Given the description of an element on the screen output the (x, y) to click on. 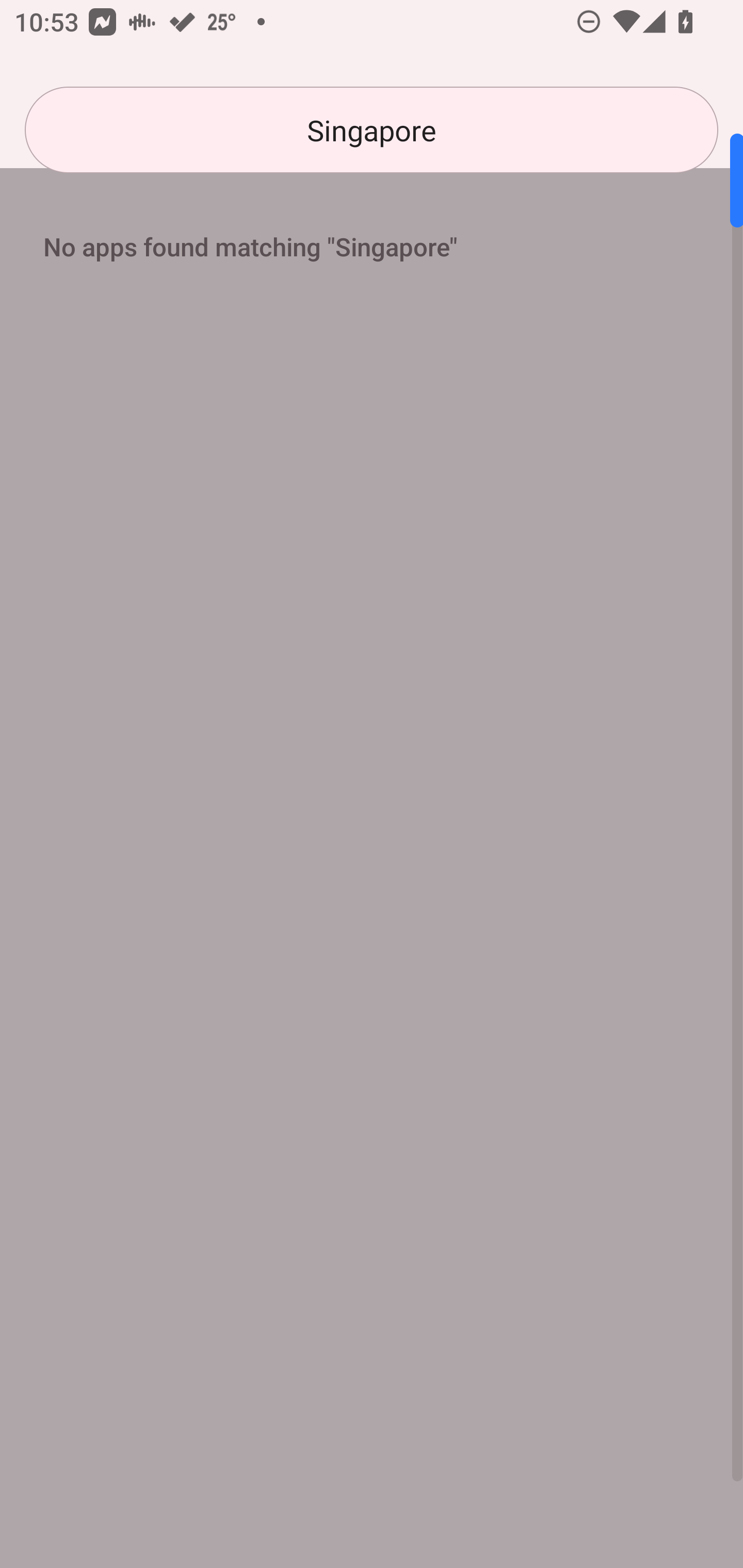
Singapore (371, 130)
